Given the description of an element on the screen output the (x, y) to click on. 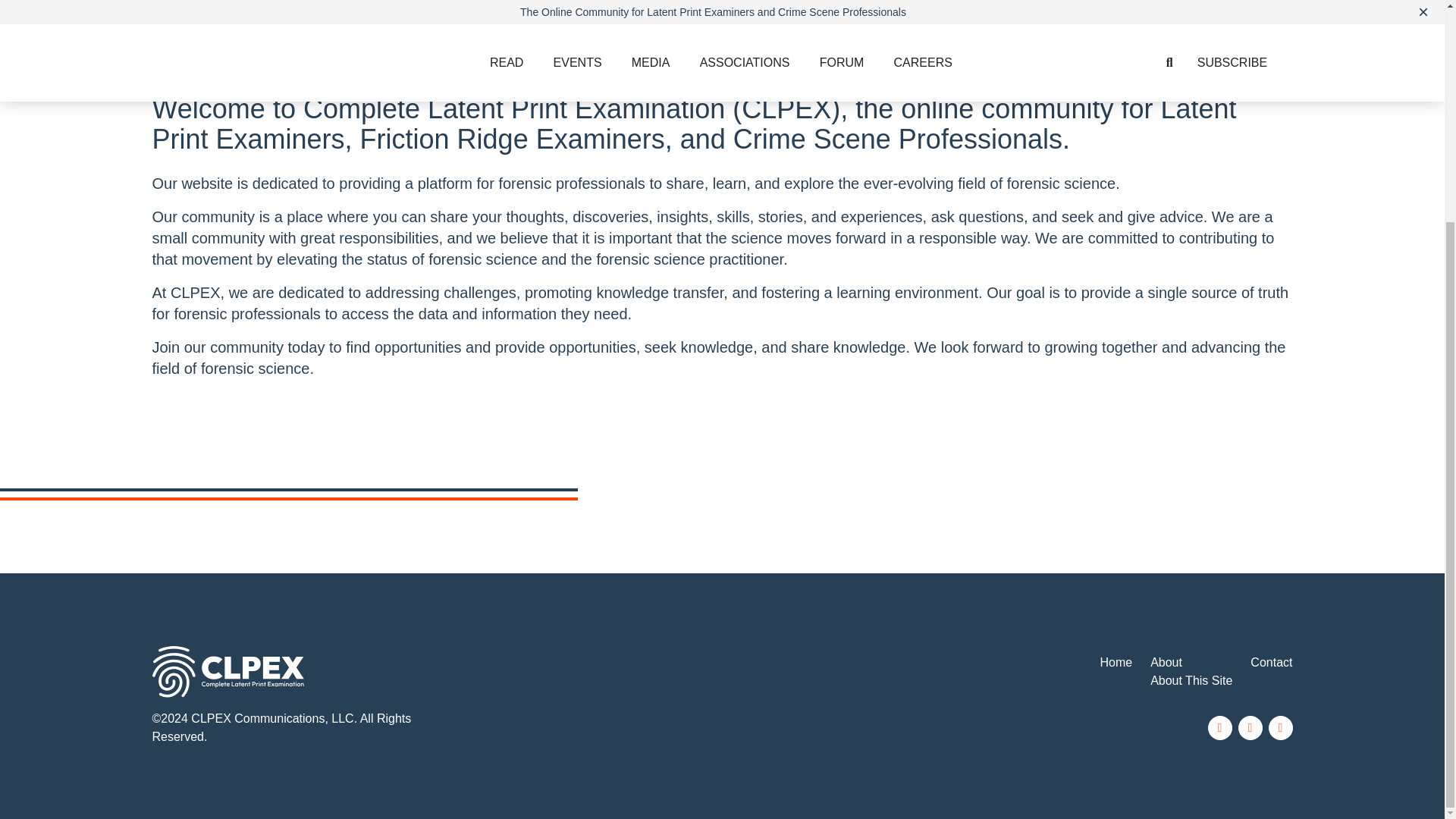
Home (1115, 662)
About This Site (1190, 680)
About (1166, 662)
Contact (1271, 662)
